Given the description of an element on the screen output the (x, y) to click on. 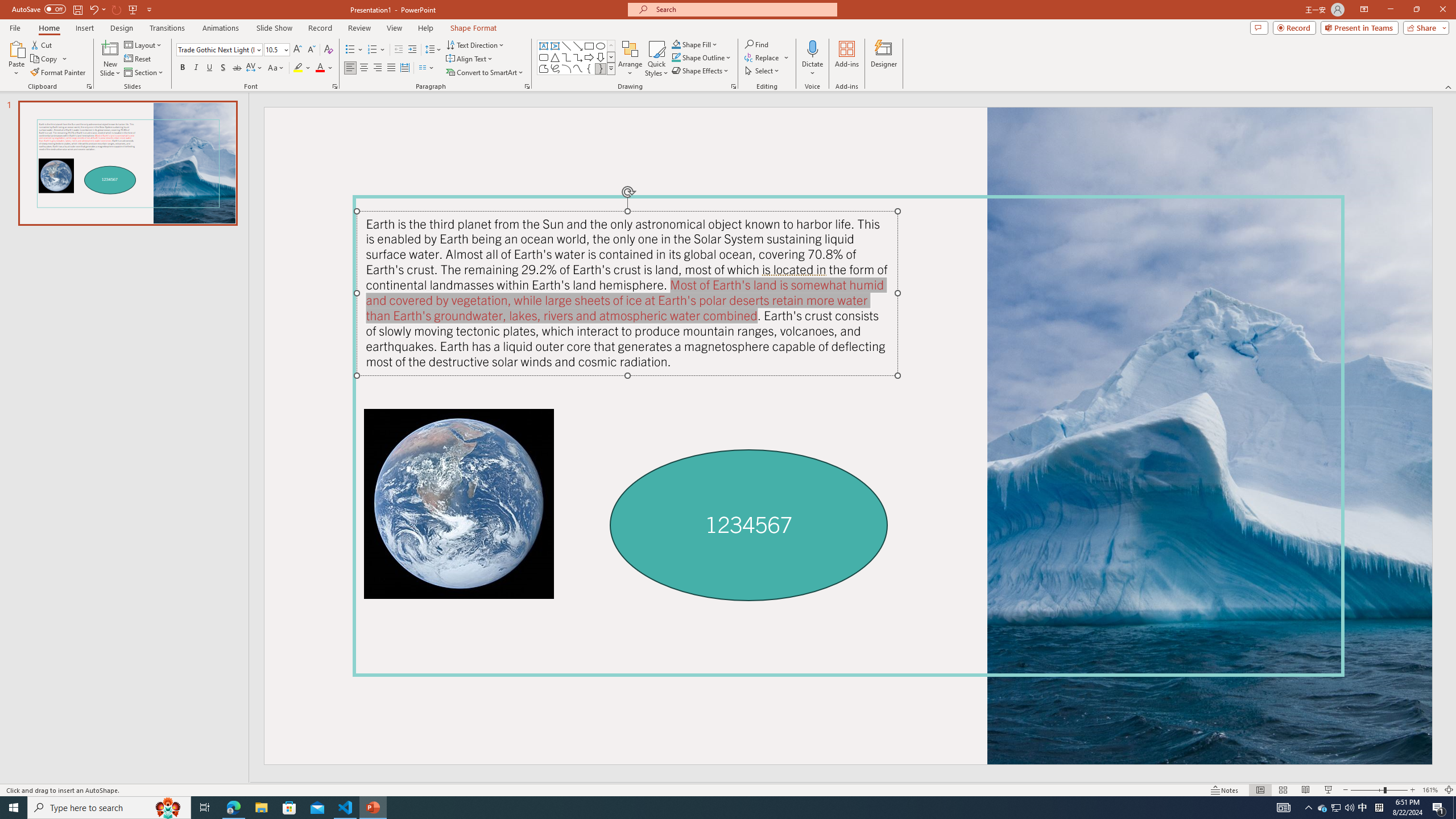
Clear Formatting (327, 49)
Columns (426, 67)
Shape Effects (700, 69)
Line Arrow (577, 45)
Curve (577, 68)
Rectangle (589, 45)
Connector: Elbow Arrow (577, 57)
Arrow: Right (589, 57)
